Given the description of an element on the screen output the (x, y) to click on. 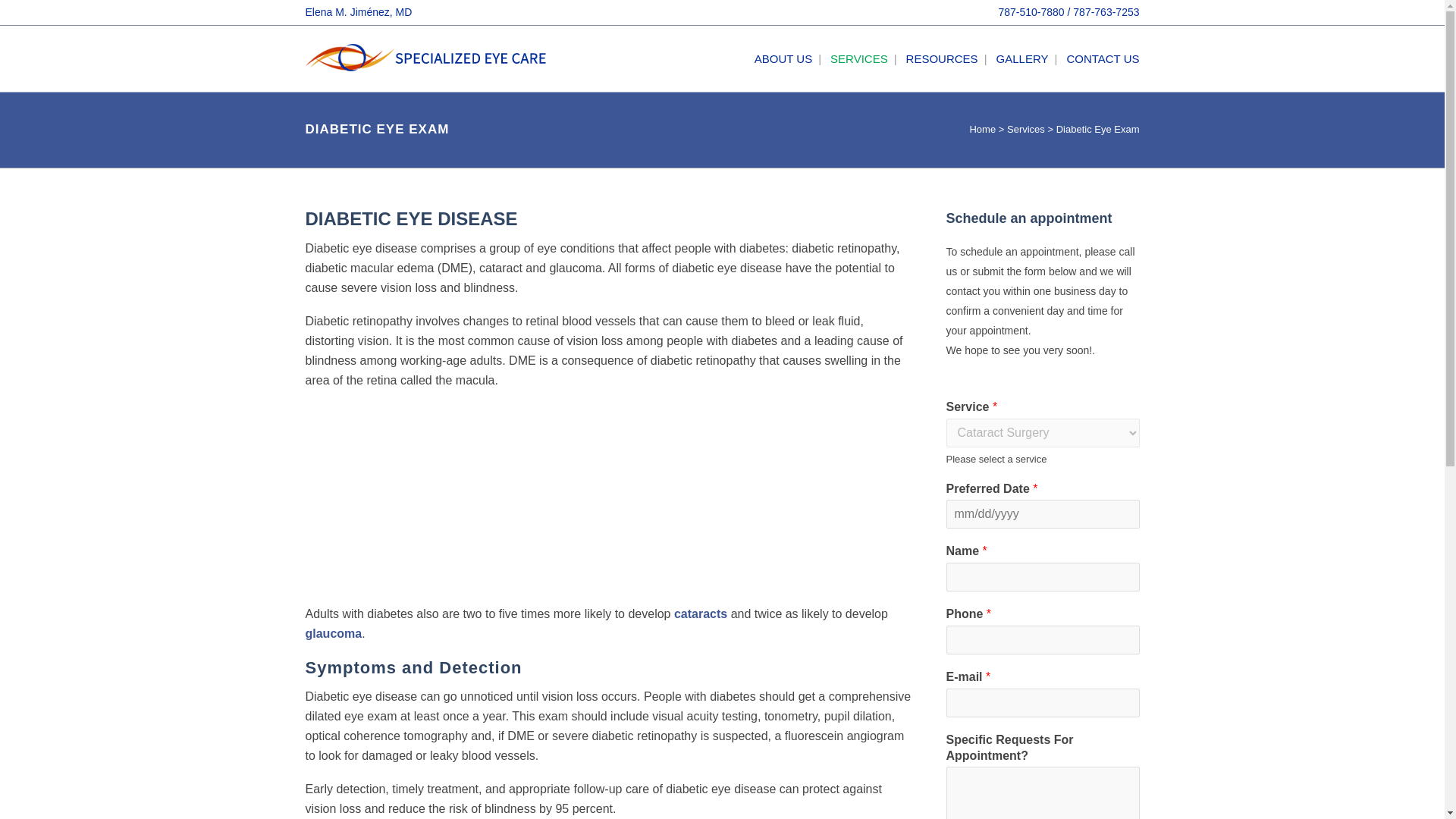
CONTACT US (1098, 58)
SERVICES (858, 58)
ABOUT US (782, 58)
Home (982, 129)
787-763-7253 (1105, 11)
RESOURCES (941, 58)
GALLERY (1022, 58)
glaucoma (332, 633)
787-510-7880 (1030, 11)
Services (1026, 129)
cataracts (700, 613)
